Given the description of an element on the screen output the (x, y) to click on. 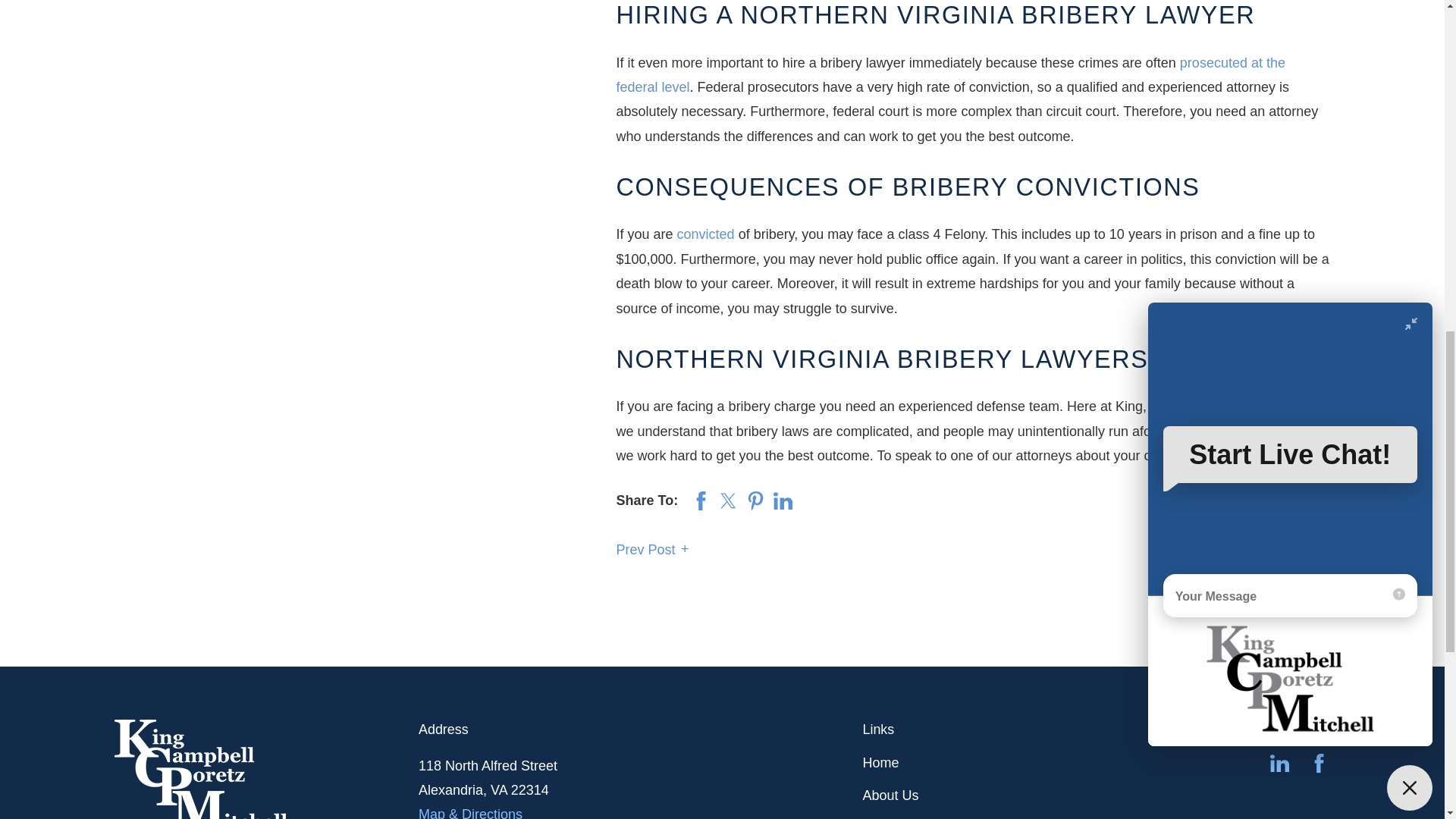
Facebook (1317, 763)
LinkedIn (1278, 763)
Home (267, 769)
King, Campbell, Poretz, and Mitchell (200, 769)
